Given the description of an element on the screen output the (x, y) to click on. 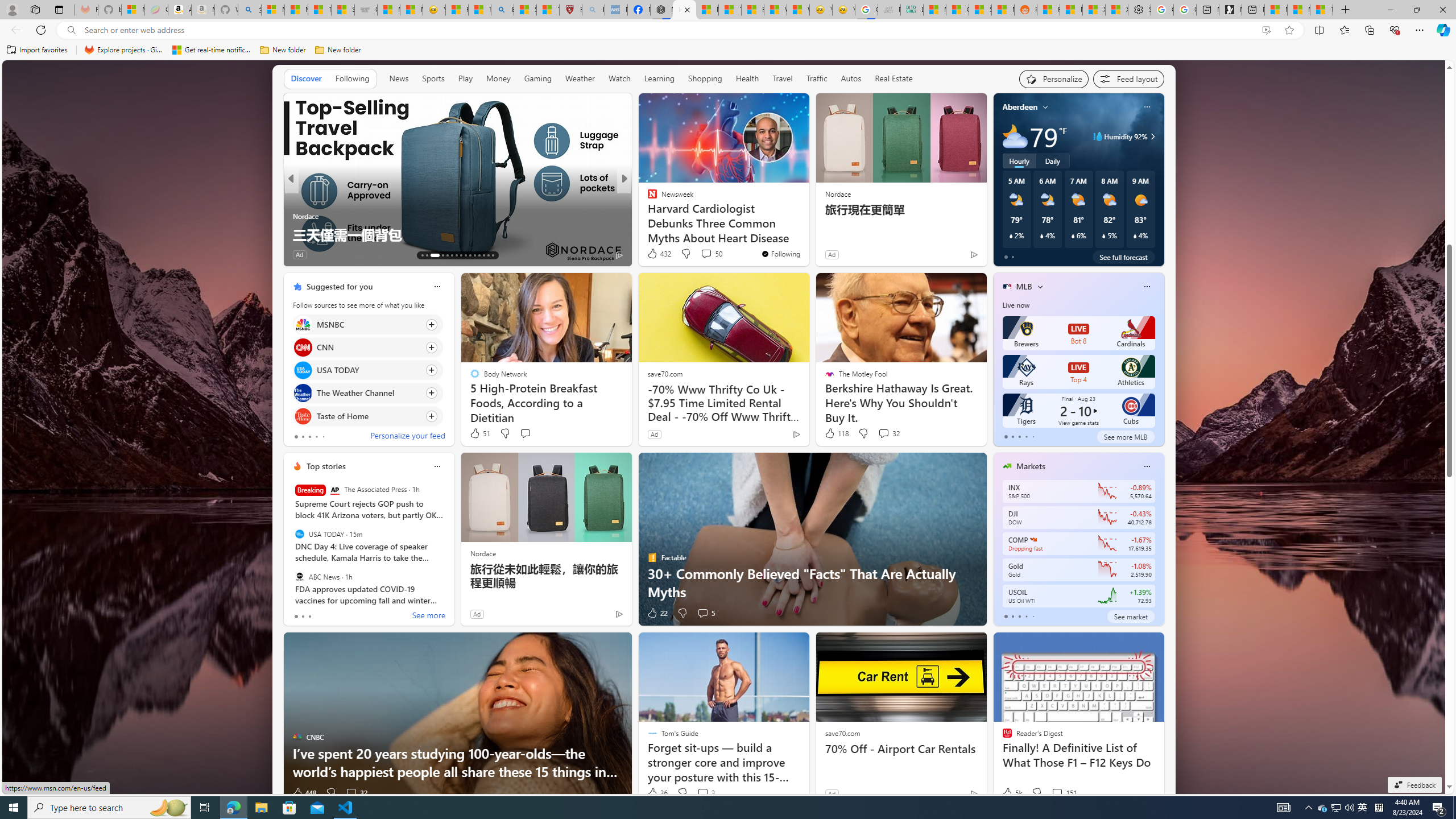
You're following Newsweek (780, 253)
Health (746, 78)
Learning (658, 78)
MLB (1024, 286)
Click to follow source MSNBC (367, 324)
